Given the description of an element on the screen output the (x, y) to click on. 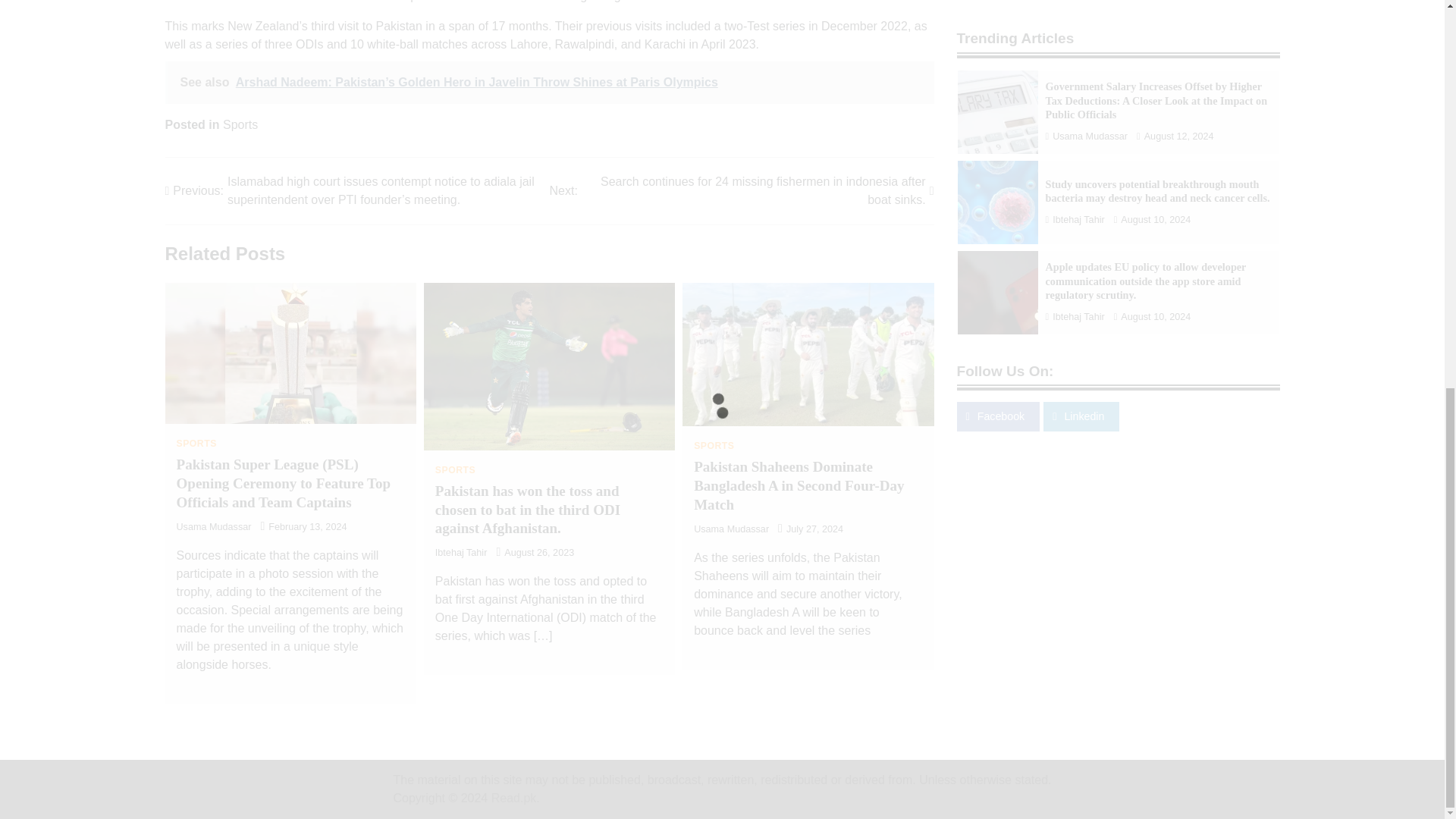
Usama Mudassar (731, 529)
SPORTS (455, 470)
SPORTS (713, 445)
SPORTS (195, 442)
Ibtehaj Tahir (461, 552)
Sports (239, 124)
Usama Mudassar (213, 526)
